Given the description of an element on the screen output the (x, y) to click on. 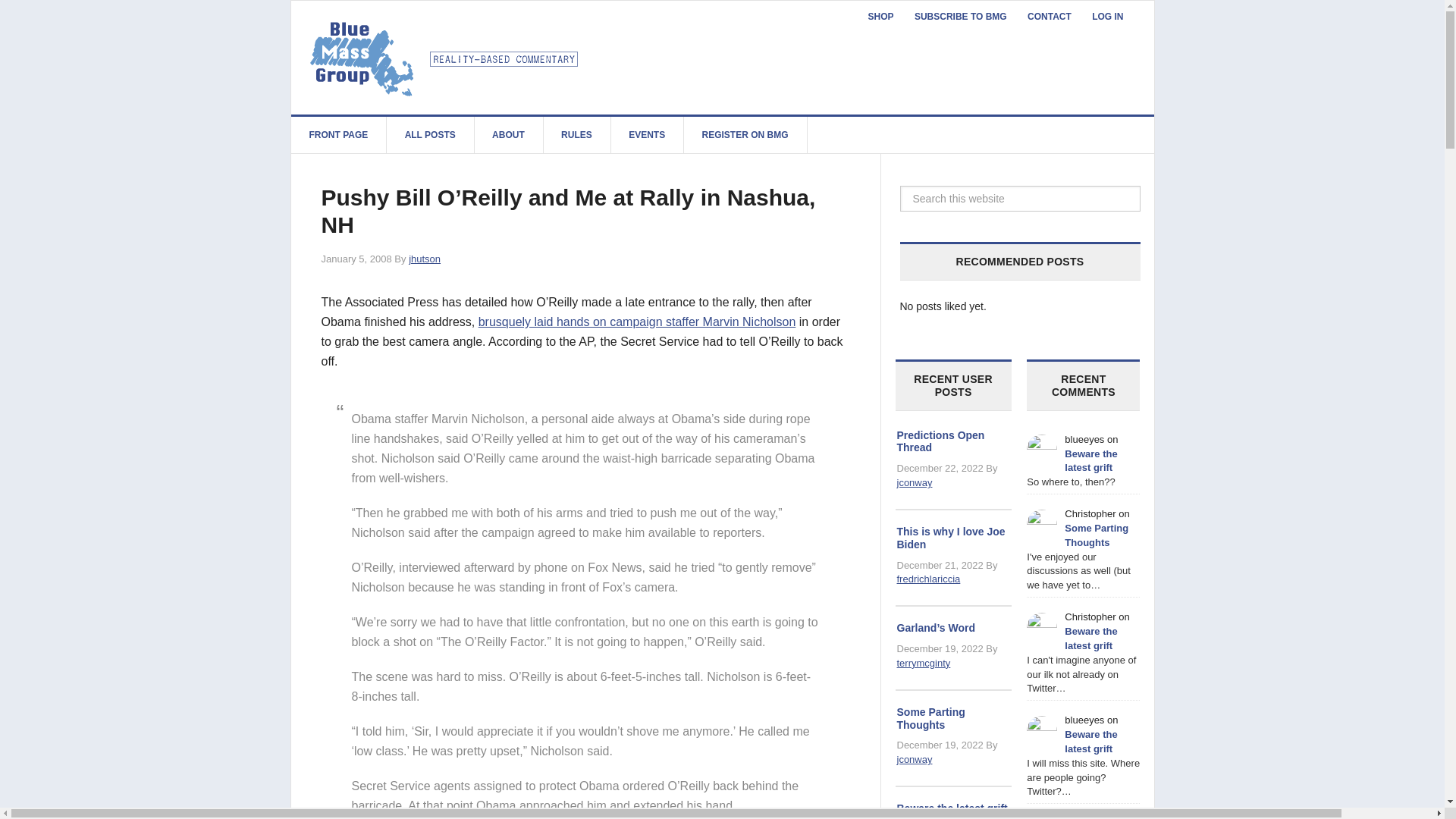
RULES (577, 135)
brusquely laid hands on campaign staffer Marvin Nicholson (637, 321)
FRONT PAGE (339, 135)
ABOUT (508, 135)
LOG IN (1107, 16)
CONTACT (1048, 16)
SUBSCRIBE TO BMG (960, 16)
REGISTER ON BMG (744, 135)
